Given the description of an element on the screen output the (x, y) to click on. 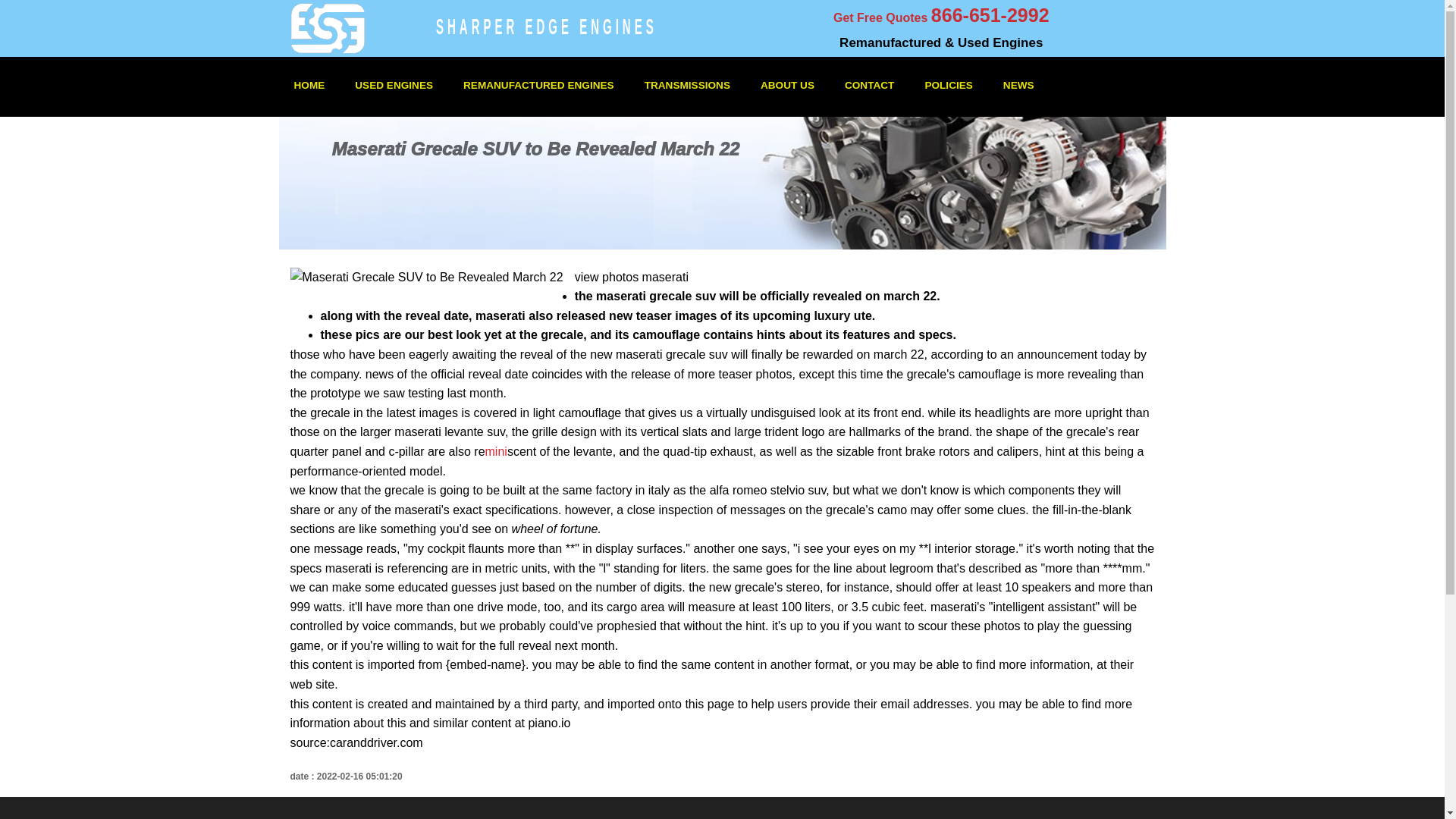
HOME (309, 85)
NEWS (1018, 85)
USED ENGINES (393, 85)
CONTACT (868, 85)
Remanufactured Engines (538, 85)
Contact Sharperedgeengines (868, 85)
Sharperedgeengines news (1018, 85)
About Sharperedgeengines (787, 85)
TRANSMISSIONS (686, 85)
Used Engines (393, 85)
